Given the description of an element on the screen output the (x, y) to click on. 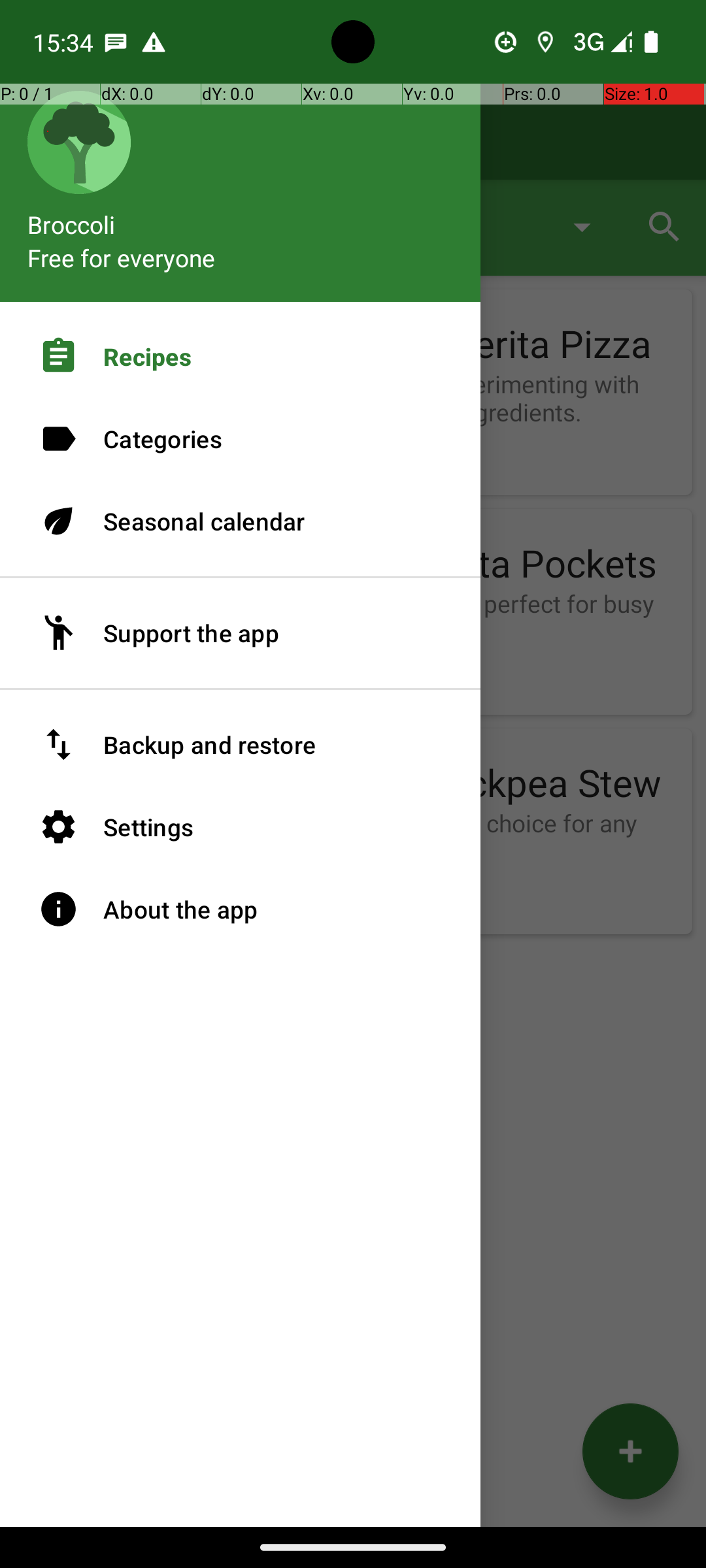
Free for everyone Element type: android.widget.TextView (121, 257)
Seasonal calendar Element type: android.widget.CheckedTextView (239, 521)
Support the app Element type: android.widget.CheckedTextView (239, 632)
Backup and restore Element type: android.widget.CheckedTextView (239, 744)
About the app Element type: android.widget.CheckedTextView (239, 909)
